Given the description of an element on the screen output the (x, y) to click on. 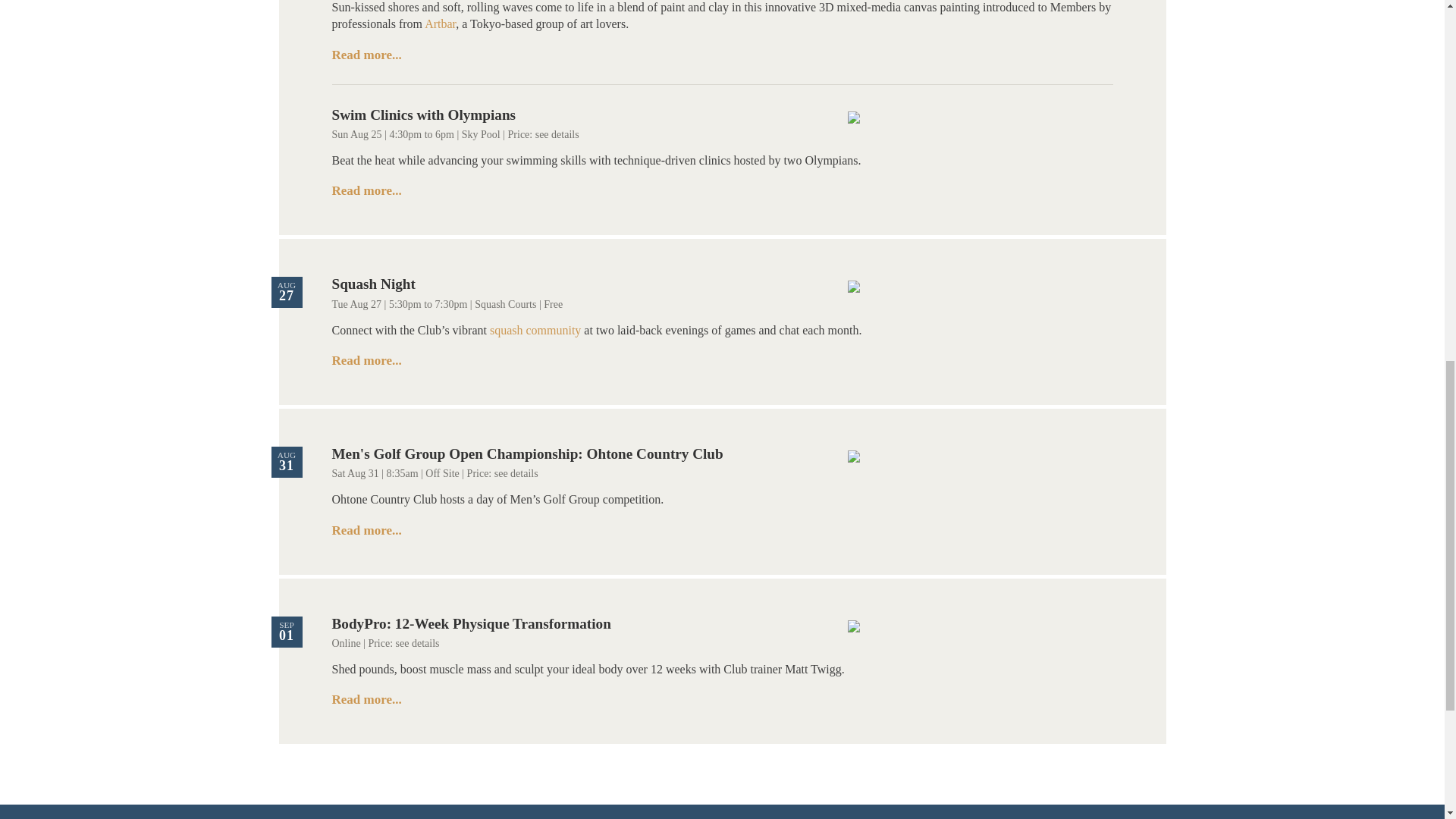
Swim Clinics with Olympians (423, 114)
Squash Night (372, 283)
Men's Golf Group Open Championship: Ohtone Country Club (527, 453)
BodyPro: 12-Week Physique Transformation (471, 623)
